Given the description of an element on the screen output the (x, y) to click on. 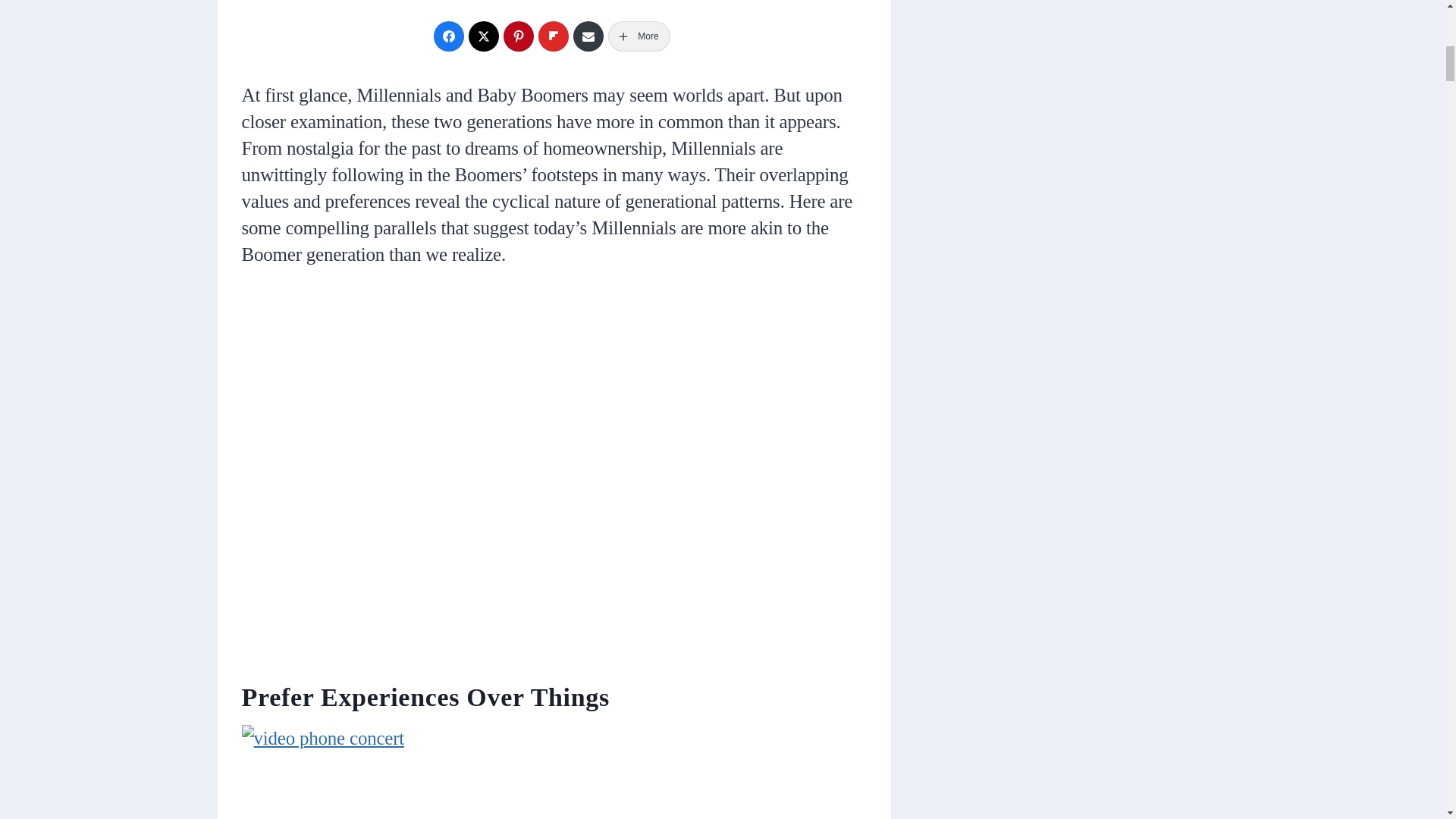
18 Reasons Why Millennials Just Might Be the New Boomers 2 (554, 771)
